Given the description of an element on the screen output the (x, y) to click on. 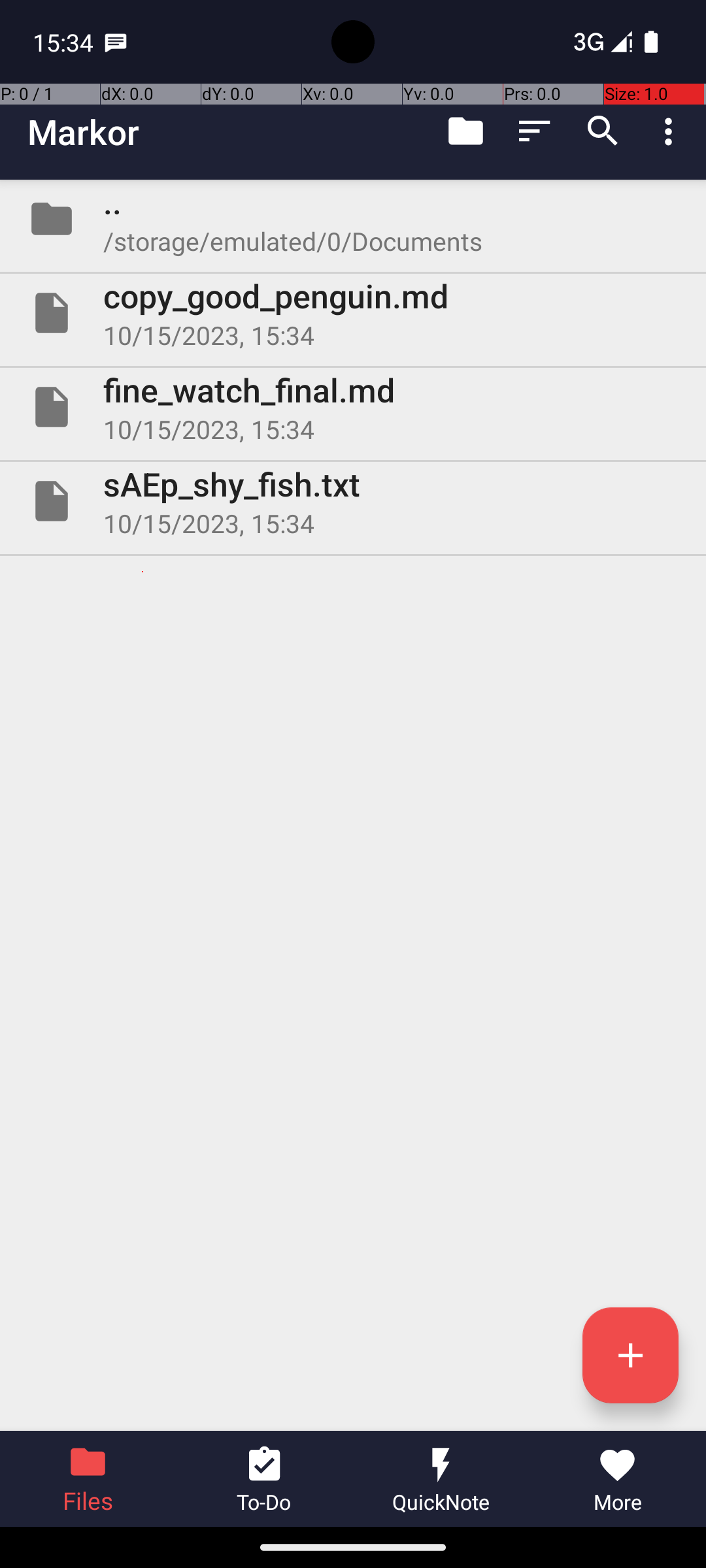
File copy_good_penguin.md  Element type: android.widget.LinearLayout (353, 312)
File fine_watch_final.md  Element type: android.widget.LinearLayout (353, 406)
File sAEp_shy_fish.txt  Element type: android.widget.LinearLayout (353, 500)
